Given the description of an element on the screen output the (x, y) to click on. 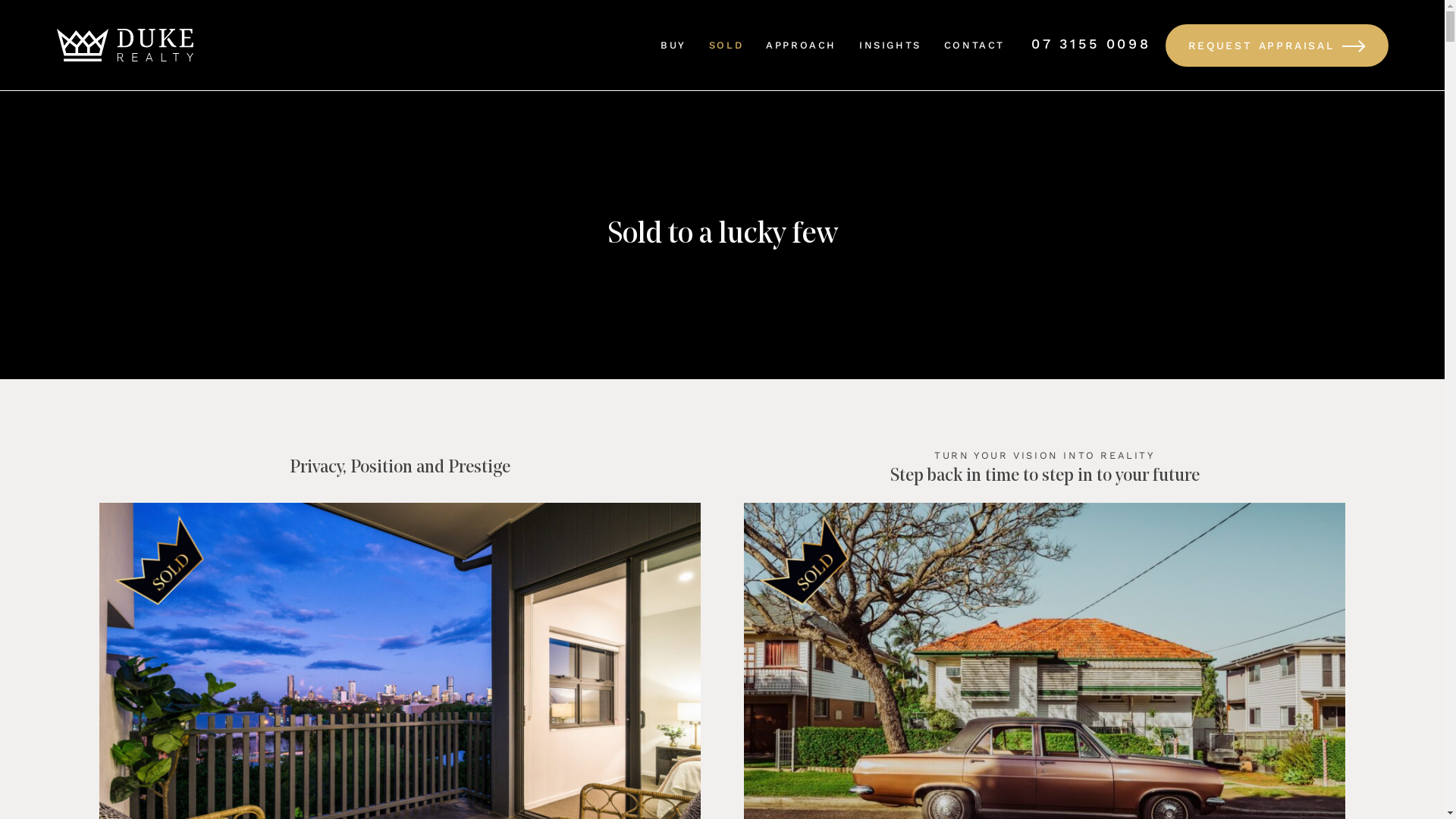
CONTACT Element type: text (974, 44)
REQUEST APPRAISAL Element type: text (1276, 45)
Step back in time to step in to your future Element type: text (1044, 476)
INSIGHTS Element type: text (889, 44)
APPROACH Element type: text (800, 44)
07 3155 0098 Element type: text (1090, 43)
SOLD Element type: text (725, 44)
BUY Element type: text (673, 44)
Privacy, Position and Prestige Element type: text (399, 467)
